Given the description of an element on the screen output the (x, y) to click on. 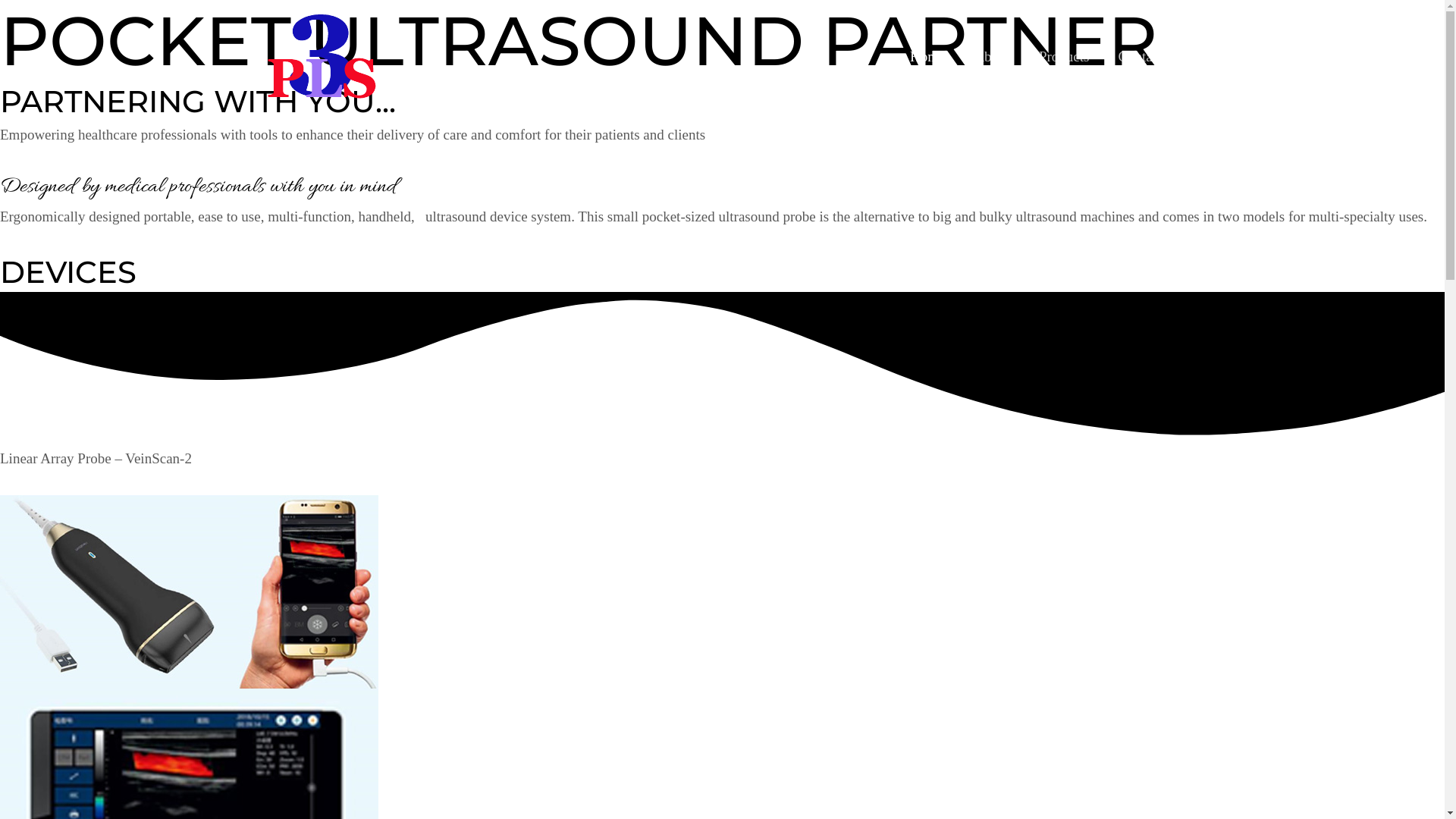
Home Element type: text (927, 56)
Contact Element type: text (1139, 56)
About Element type: text (991, 56)
Products Element type: text (1064, 56)
